Given the description of an element on the screen output the (x, y) to click on. 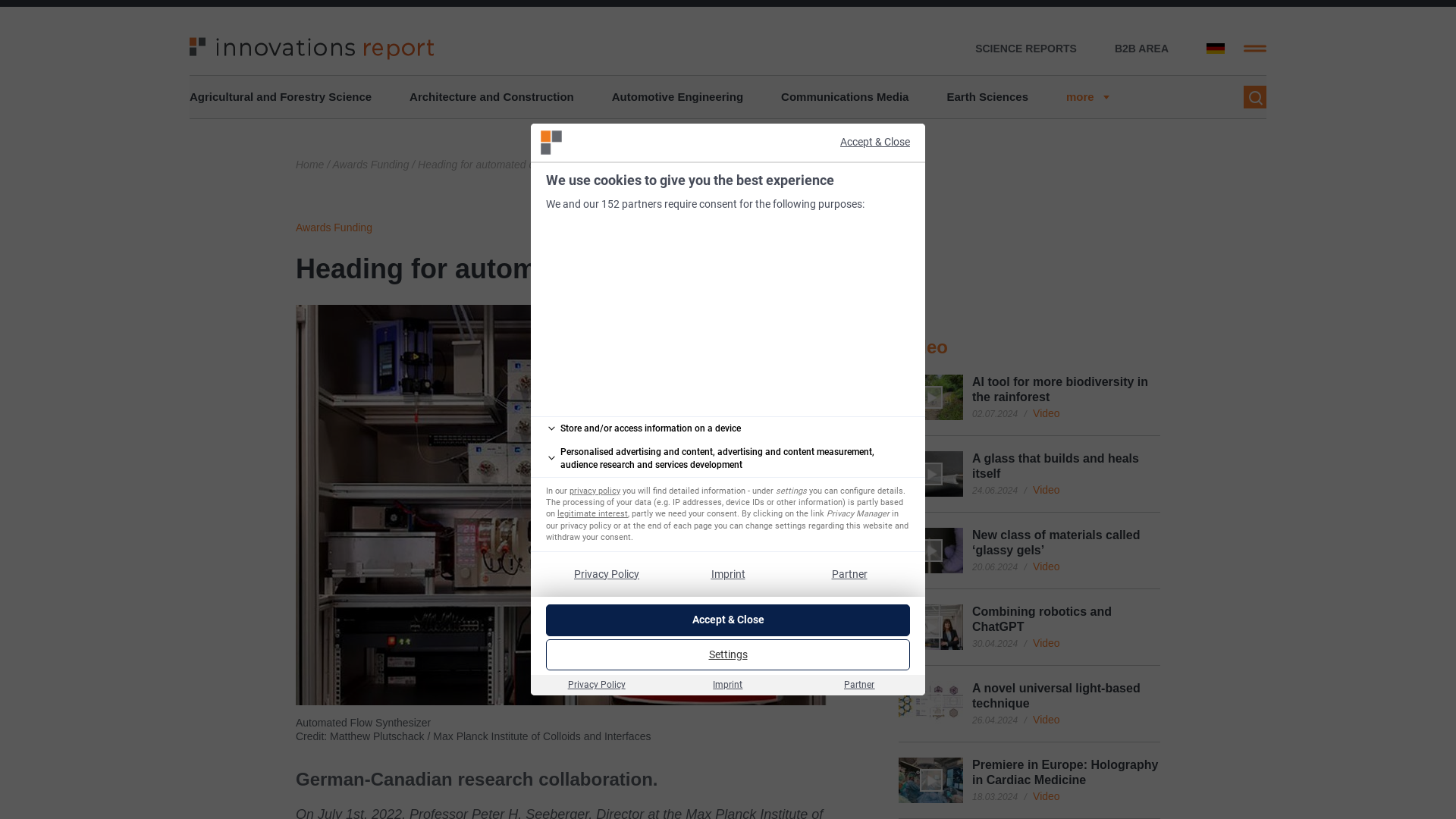
Earth Sciences (986, 96)
Architecture and Construction (491, 96)
SCIENCE REPORTS (1026, 48)
Communications Media (844, 96)
Agricultural and Forestry Science (280, 96)
B2B AREA (1142, 48)
Automotive Engineering (676, 96)
